Given the description of an element on the screen output the (x, y) to click on. 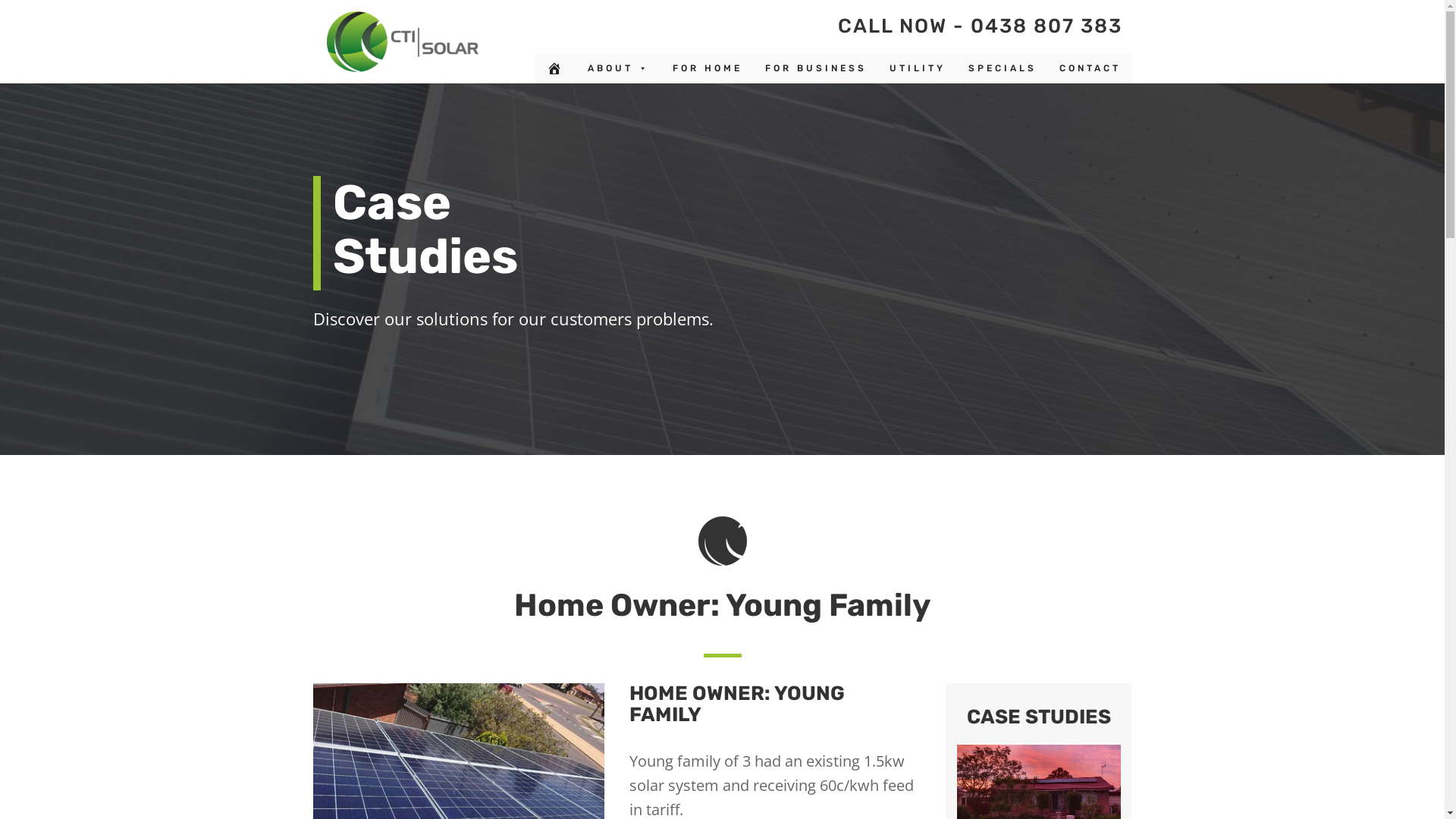
ABOUT Element type: text (618, 68)
FOR HOME Element type: text (707, 68)
SPECIALS Element type: text (1002, 68)
FOR BUSINESS Element type: text (815, 68)
CONTACT Element type: text (1090, 68)
UTILITY Element type: text (917, 68)
